Given the description of an element on the screen output the (x, y) to click on. 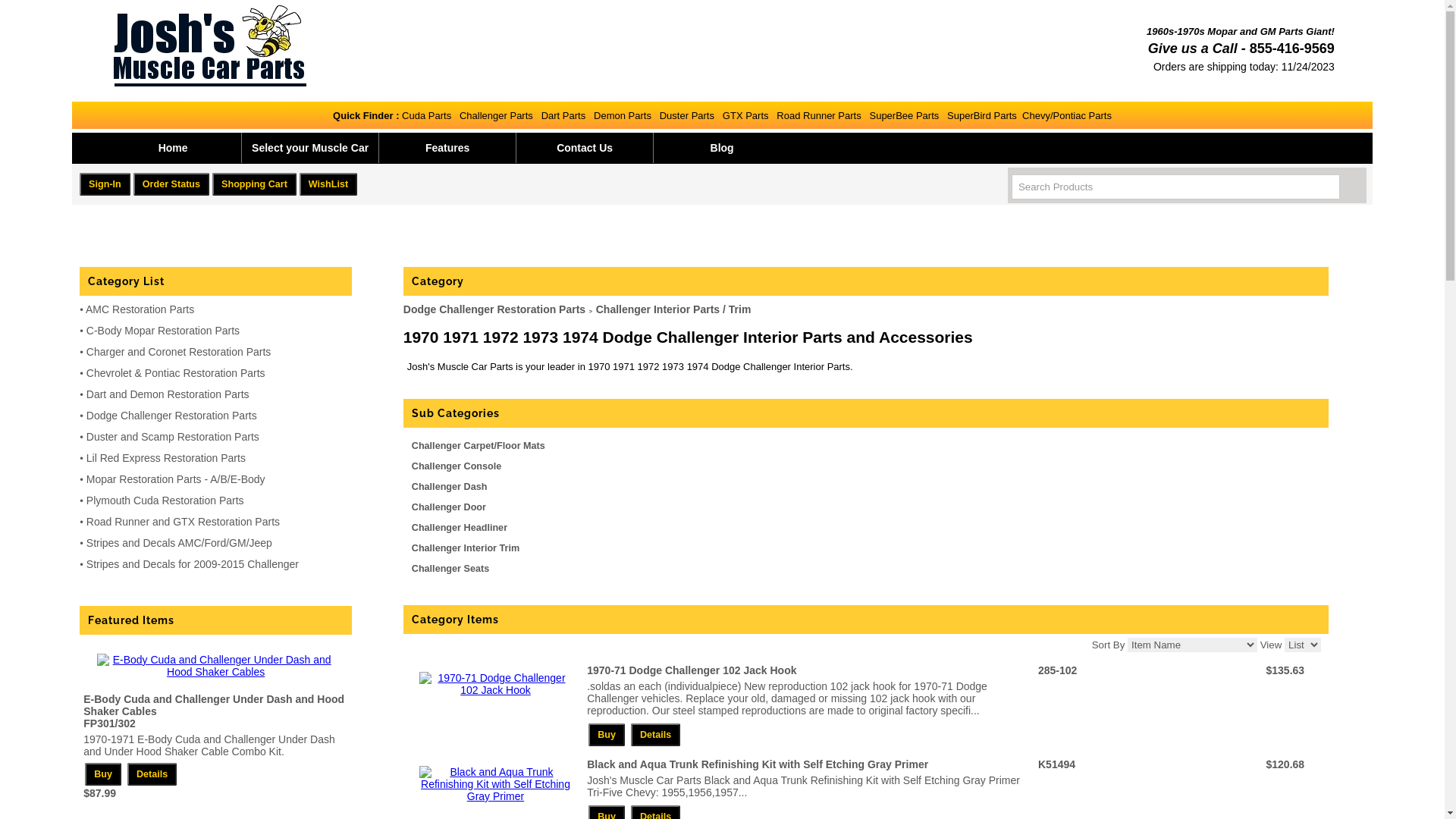
Challenger Door Element type: text (448, 507)
Dart and Demon Restoration Parts Element type: text (167, 394)
Dodge Challenger Restoration Parts Element type: text (494, 309)
Lil Red Express Restoration Parts Element type: text (165, 457)
Stripes and Decals AMC/Ford/GM/Jeep Element type: text (179, 542)
Challenger Parts Element type: text (496, 115)
Stripes and Decals for 2009-2015 Challenger Element type: text (192, 564)
Duster Parts Element type: text (686, 115)
Road Runner Parts Element type: text (818, 115)
Challenger Seats Element type: text (449, 568)
Select your Muscle Car Element type: text (309, 147)
Buy Element type: text (102, 773)
Chevy/Pontiac Parts Element type: text (1066, 115)
Dodge Challenger Restoration Parts Element type: text (171, 415)
Menu Element type: text (21, 11)
AMC Restoration Parts Element type: text (139, 309)
Blog Element type: text (722, 147)
Duster and Scamp Restoration Parts Element type: text (172, 436)
Chevrolet & Pontiac Restoration Parts Element type: text (175, 373)
Demon Parts Element type: text (622, 115)
Search Products Element type: text (1175, 186)
Challenger Interior Trim Element type: text (465, 548)
Challenger Dash Element type: text (449, 486)
Features Element type: text (447, 147)
Challenger Console Element type: text (456, 466)
Cuda Parts Element type: text (424, 115)
Shopping Cart Element type: text (254, 183)
SuperBee Parts Element type: text (903, 115)
Details Element type: text (655, 734)
Road Runner and GTX Restoration Parts Element type: text (182, 521)
Home Element type: text (173, 147)
GTX Parts Element type: text (745, 115)
Challenger Carpet/Floor Mats Element type: text (478, 445)
Challenger Headliner Element type: text (459, 527)
WishList Element type: text (328, 183)
SuperBird Parts Element type: text (981, 115)
Vehicles Element type: text (28, 11)
Buy Element type: text (606, 734)
Contact Us Element type: text (584, 147)
Mopar Restoration Parts - A/B/E-Body Element type: text (175, 479)
Josh's Muscle Car Parts Element type: hover (209, 46)
E-Body Cuda and Challenger Under Dash and Hood Shaker Cables Element type: text (213, 705)
Details Element type: text (151, 773)
1970-71 Dodge Challenger 102 Jack Hook Element type: text (691, 670)
Sign-In Element type: text (104, 183)
Order Status Element type: text (171, 183)
Charger and Coronet Restoration Parts Element type: text (178, 351)
C-Body Mopar Restoration Parts Element type: text (162, 330)
Dart Parts Element type: text (563, 115)
Plymouth Cuda Restoration Parts Element type: text (165, 500)
